Given the description of an element on the screen output the (x, y) to click on. 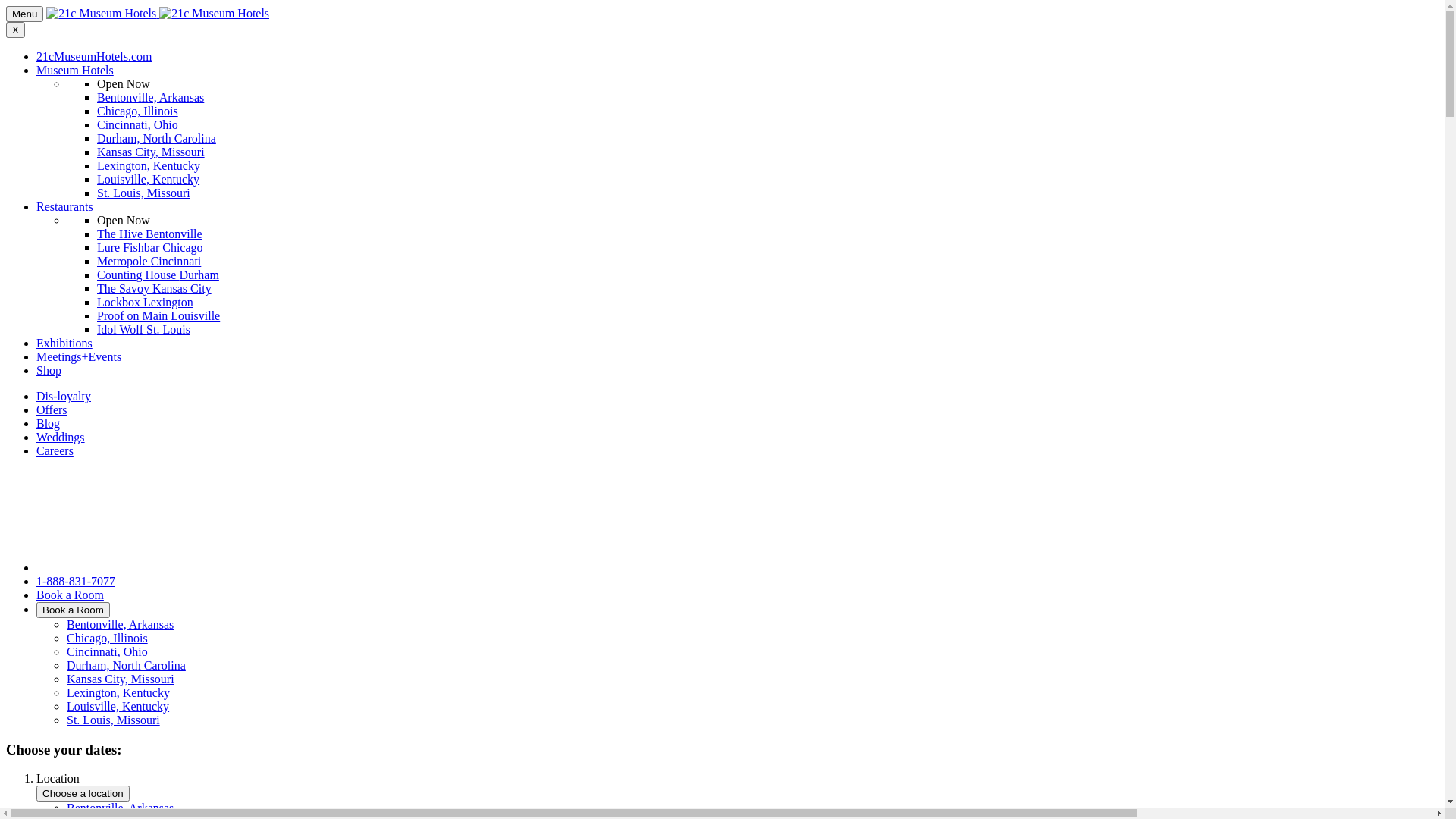
Chicago, Illinois Element type: text (106, 637)
Cincinnati, Ohio Element type: text (106, 651)
Bentonville, Arkansas Element type: text (119, 807)
St. Louis, Missouri Element type: text (113, 719)
Lure Fishbar Chicago Element type: text (150, 247)
Book a Room Element type: text (69, 594)
Counting House Durham Element type: text (158, 274)
1-888-831-7077 Element type: text (75, 580)
Proof on Main Louisville Element type: text (158, 315)
Cincinnati, Ohio Element type: text (137, 124)
Lexington, Kentucky Element type: text (148, 165)
21cMuseumHotels.com Element type: text (93, 56)
Exhibitions Element type: text (64, 342)
Bentonville, Arkansas Element type: text (119, 624)
The Savoy Kansas City Element type: text (154, 288)
Louisville, Kentucky Element type: text (148, 178)
Lexington, Kentucky Element type: text (117, 692)
Kansas City, Missouri Element type: text (150, 151)
Durham, North Carolina Element type: text (125, 664)
Lockbox Lexington Element type: text (145, 301)
Meetings+Events Element type: text (78, 356)
Menu Element type: text (24, 13)
Chicago, Illinois Element type: text (137, 110)
Careers Element type: text (54, 450)
Book a Room Element type: text (72, 610)
St. Louis, Missouri Element type: text (143, 192)
Idol Wolf St. Louis Element type: text (143, 329)
X Element type: text (15, 29)
Bentonville, Arkansas Element type: text (150, 97)
The Hive Bentonville Element type: text (149, 233)
Kansas City, Missouri Element type: text (120, 678)
Weddings Element type: text (60, 436)
Museum Hotels Element type: text (74, 69)
Shop Element type: text (48, 370)
Offers Element type: text (51, 409)
Durham, North Carolina Element type: text (156, 137)
Dis-loyalty Element type: text (63, 395)
Louisville, Kentucky Element type: text (117, 705)
Metropole Cincinnati Element type: text (148, 260)
Choose a location Element type: text (82, 793)
Blog Element type: text (47, 423)
Restaurants Element type: text (64, 206)
